Given the description of an element on the screen output the (x, y) to click on. 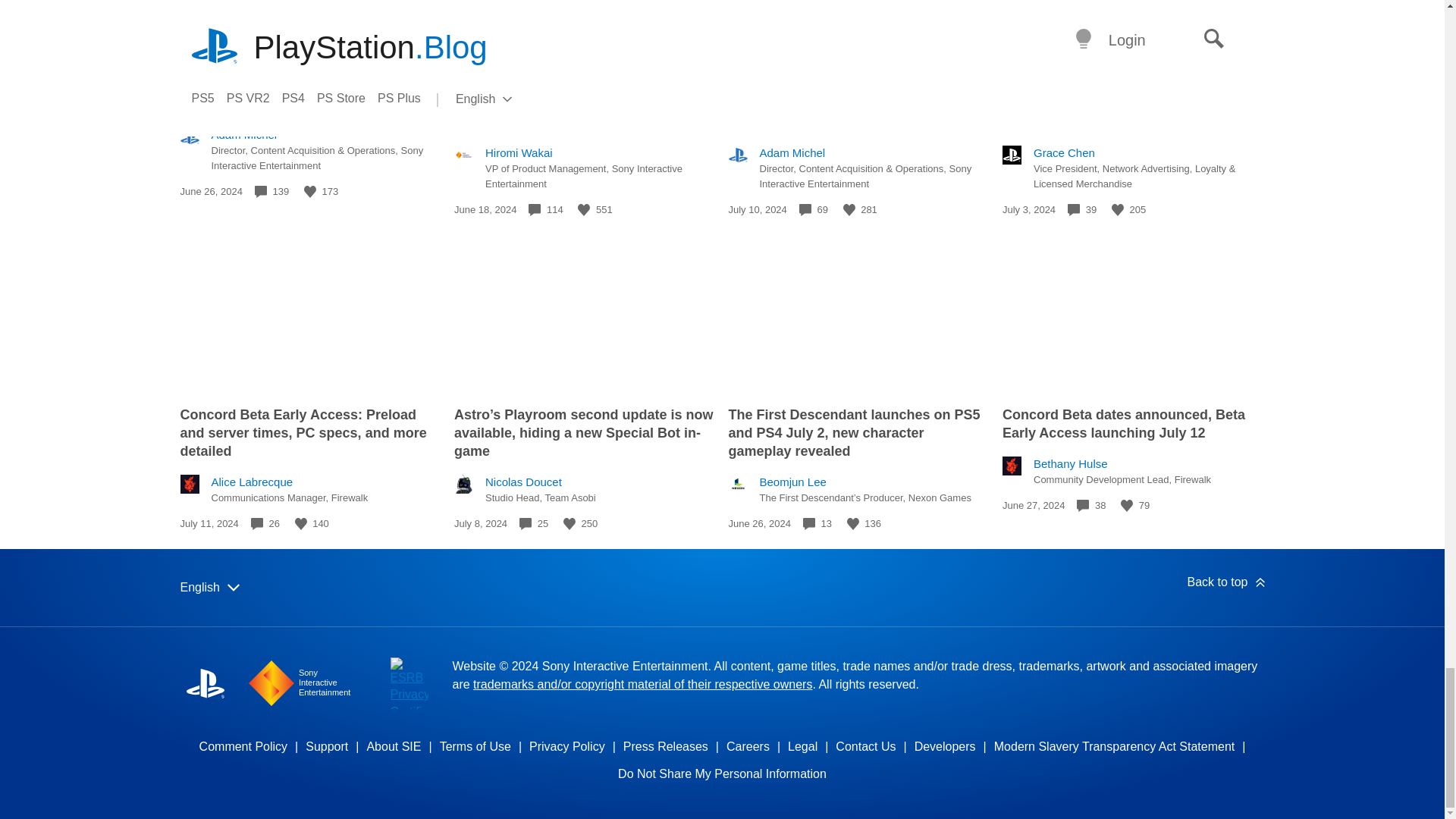
Like this (583, 209)
Like this (1118, 209)
Like this (309, 191)
Like this (301, 523)
Like this (849, 209)
